Given the description of an element on the screen output the (x, y) to click on. 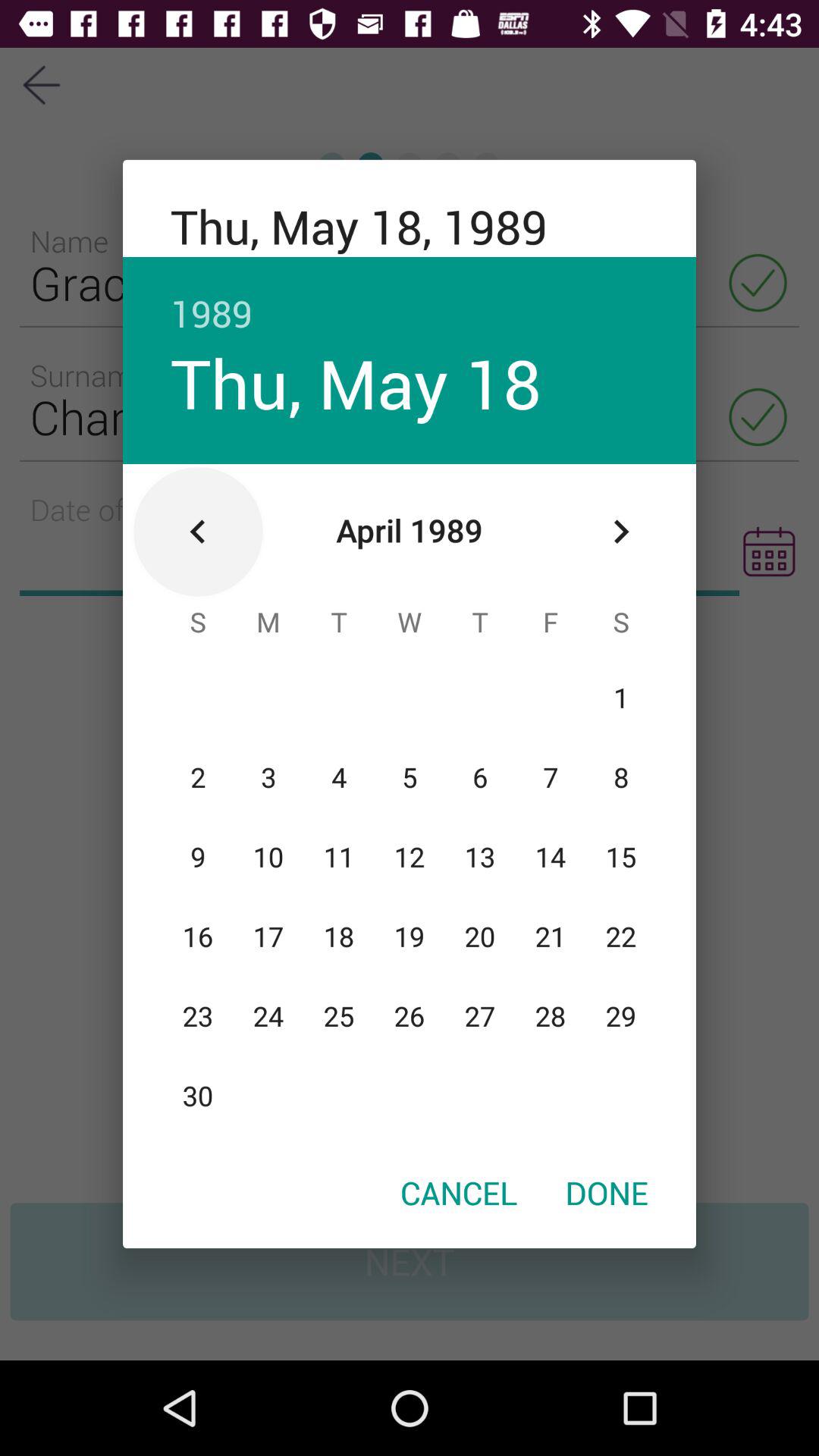
select icon at the bottom right corner (606, 1192)
